Given the description of an element on the screen output the (x, y) to click on. 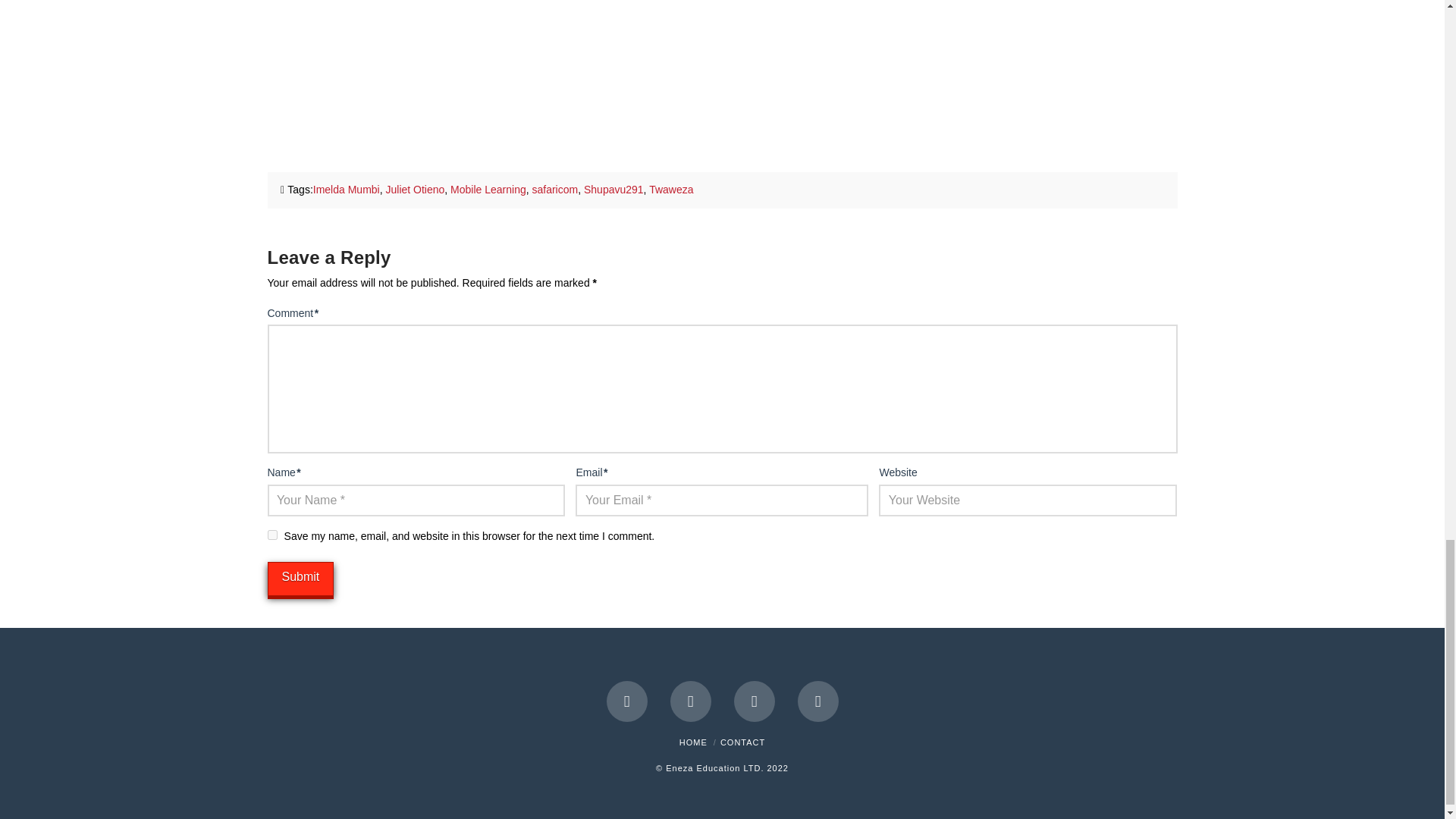
Submit (299, 578)
Facebook (627, 700)
Imelda Mumbi (346, 189)
Mobile Learning (487, 189)
Juliet Otieno (414, 189)
Instagram (817, 700)
Submit (299, 578)
safaricom (555, 189)
LinkedIn (753, 700)
Twaweza (671, 189)
